Given the description of an element on the screen output the (x, y) to click on. 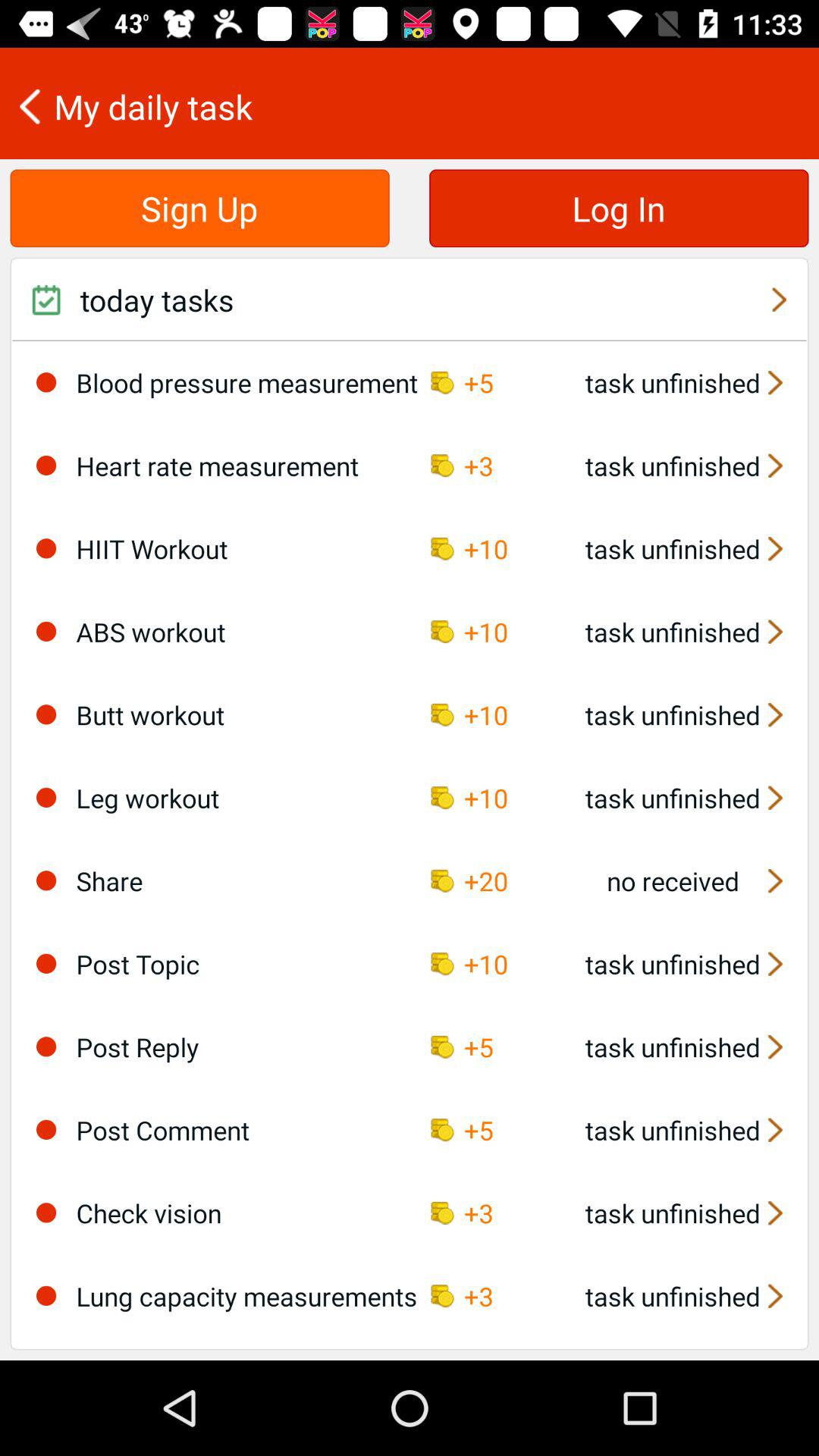
turn on the icon to the left of post topic item (46, 963)
